Given the description of an element on the screen output the (x, y) to click on. 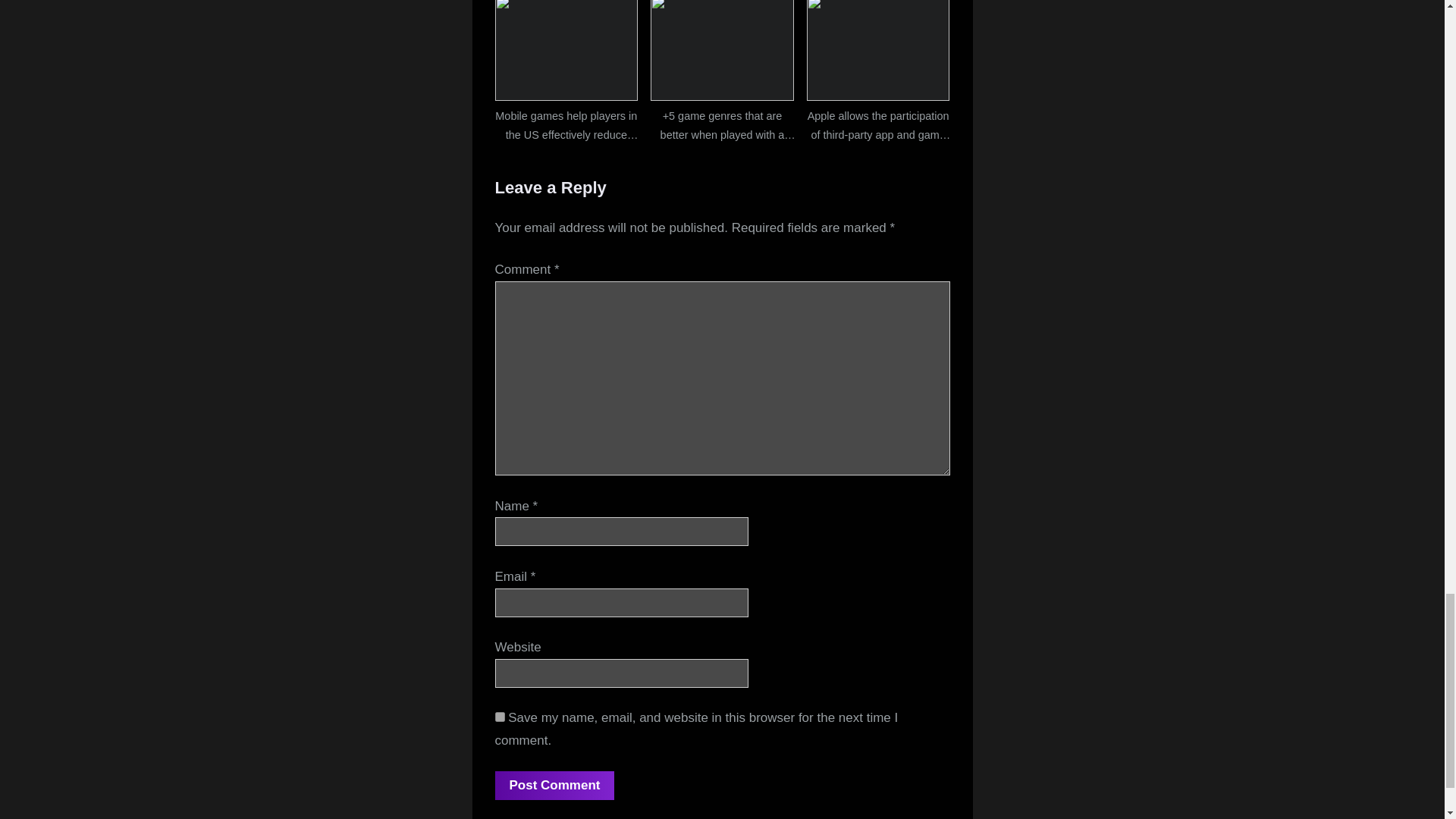
Post Comment (554, 785)
yes (499, 716)
